Given the description of an element on the screen output the (x, y) to click on. 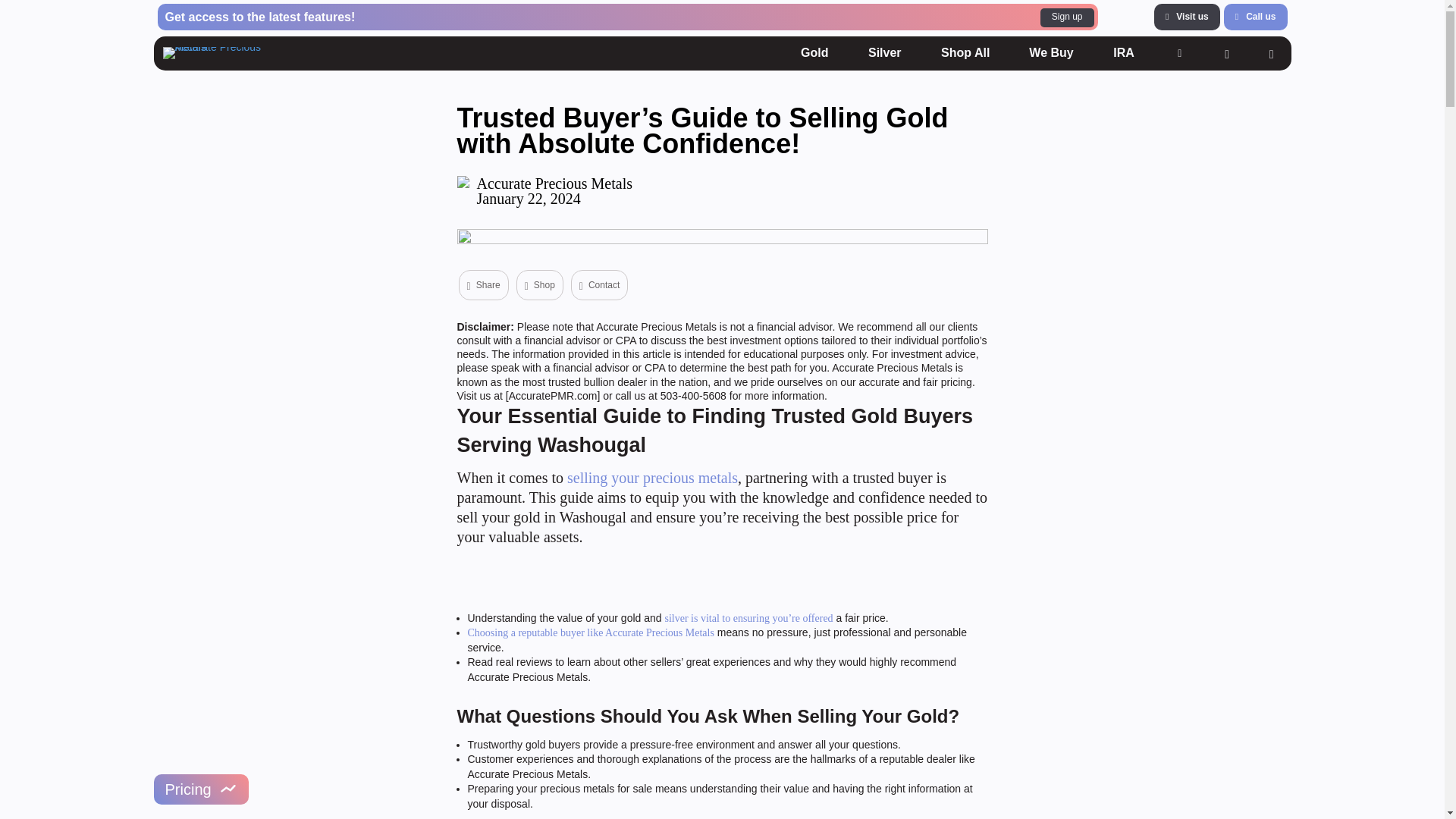
Full-Inline-coolwhite100 (221, 52)
Visit us (885, 52)
Call us (1187, 17)
